Given the description of an element on the screen output the (x, y) to click on. 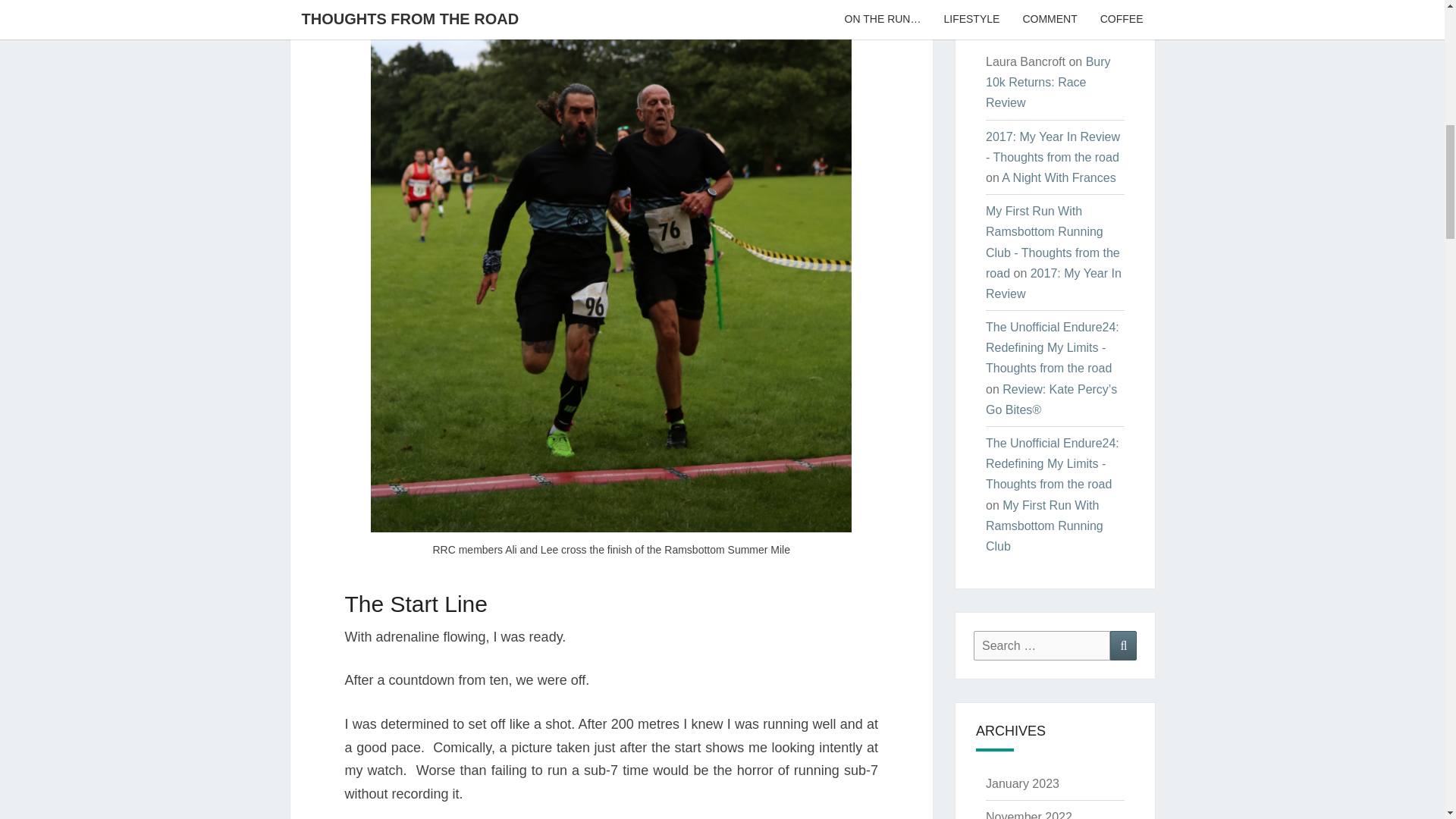
A Night With Frances (1058, 177)
2017: My Year In Review (1053, 283)
My First Run With Ramsbottom Running Club (1044, 525)
Search (1123, 645)
Search for: (1041, 645)
2017: My Year In Review - Thoughts from the road (1052, 146)
January 2023 (1022, 783)
